Given the description of an element on the screen output the (x, y) to click on. 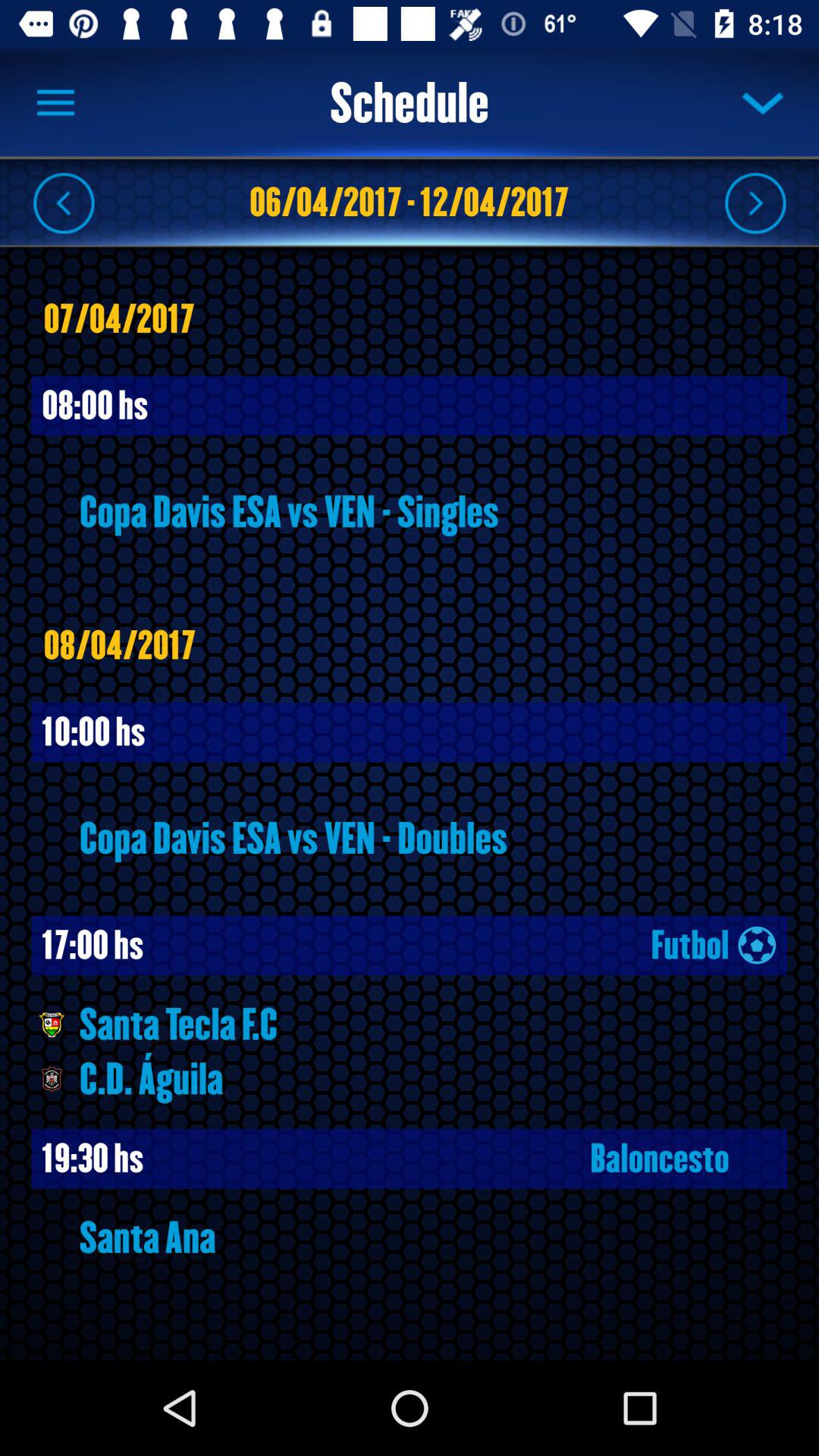
backward (63, 202)
